Given the description of an element on the screen output the (x, y) to click on. 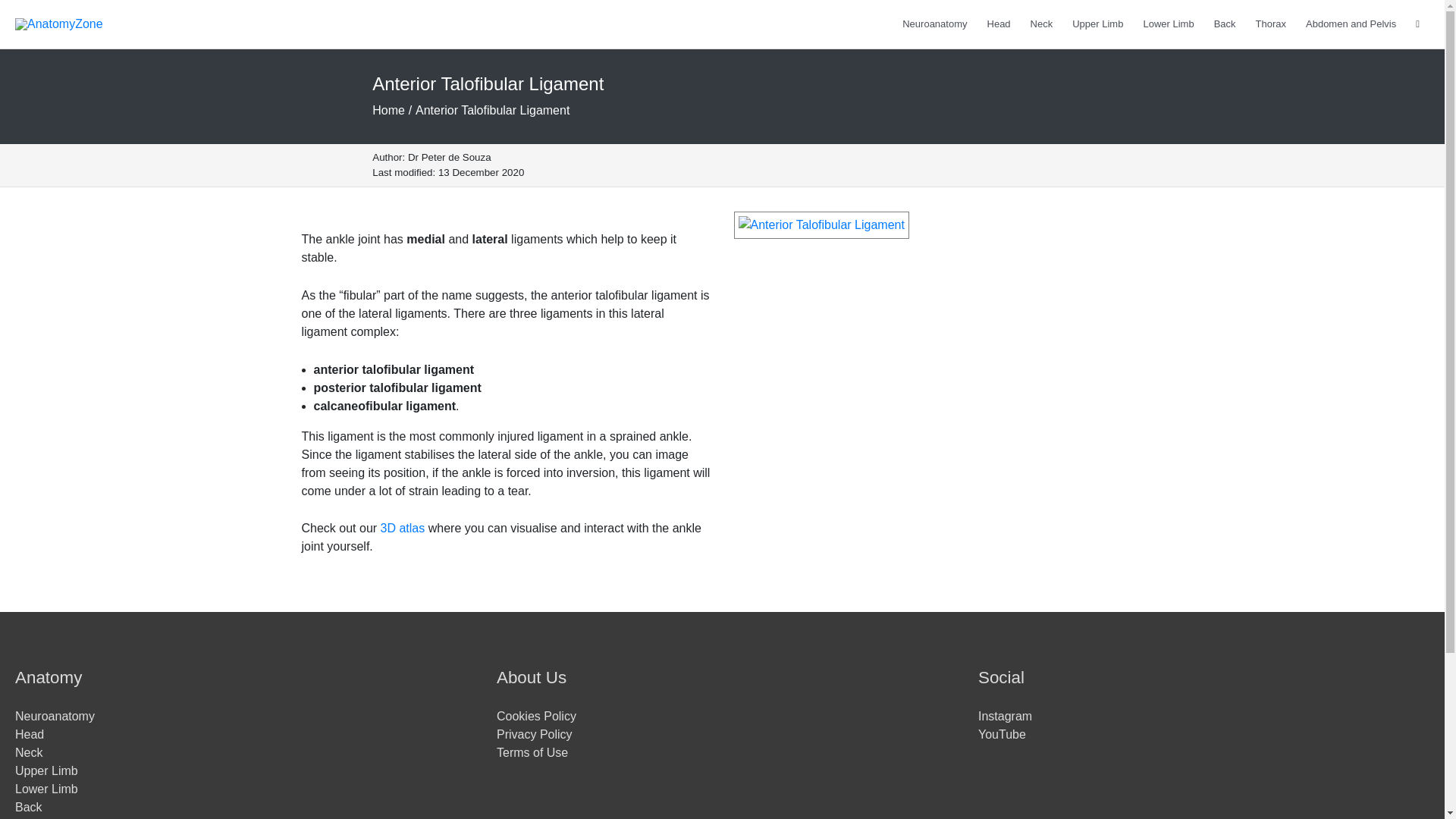
Terms of Use (531, 752)
Upper Limb (1097, 24)
Upper Limb (46, 770)
Cookies Policy (536, 716)
Ankle joint (402, 527)
Instagram (1005, 716)
Head (998, 24)
Lower Limb (1168, 24)
YouTube (1002, 734)
Neuroanatomy (54, 716)
